Given the description of an element on the screen output the (x, y) to click on. 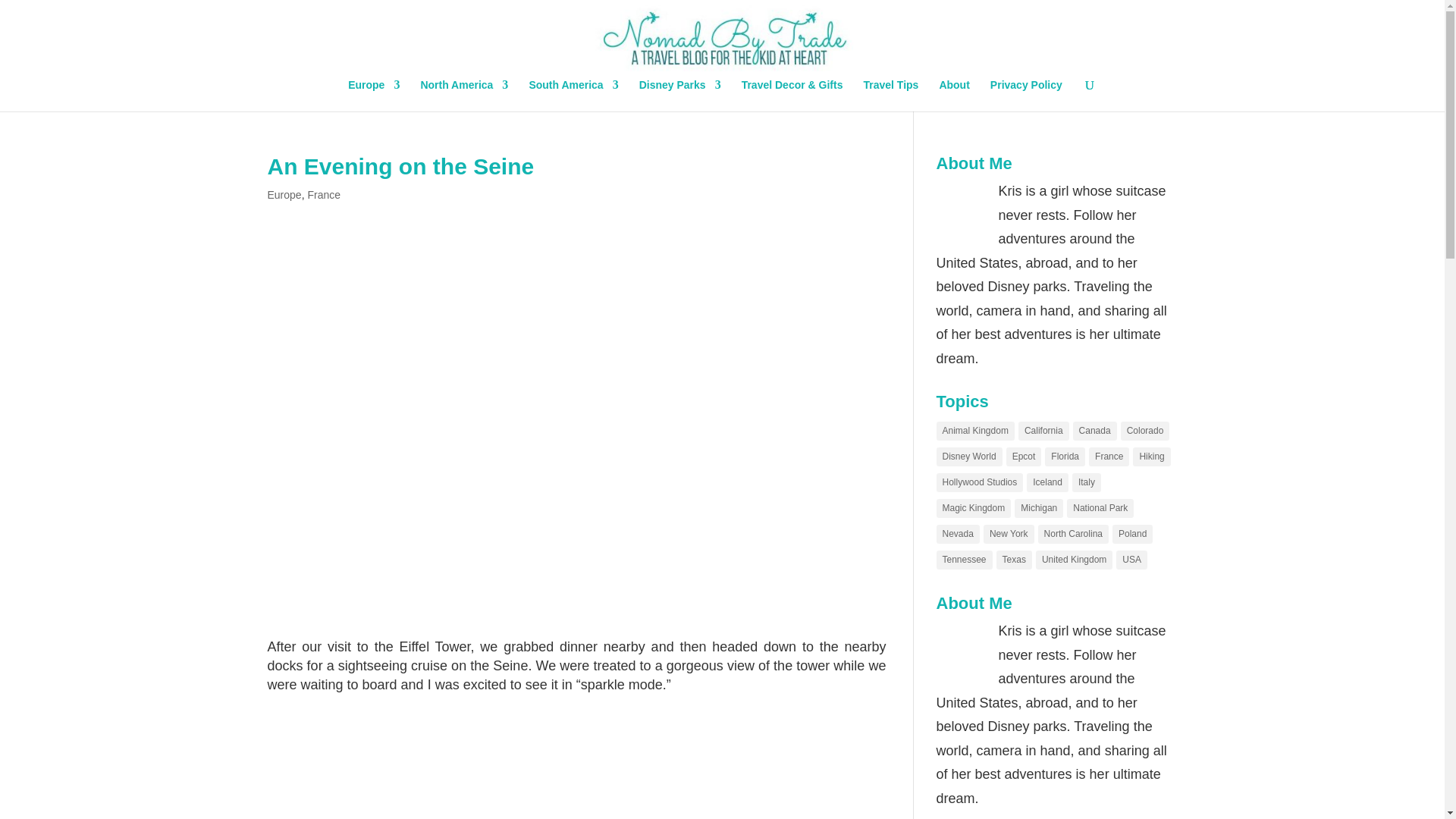
Europe (372, 95)
Privacy Policy (1026, 95)
Europe (283, 194)
South America (572, 95)
Travel Tips (890, 95)
Disney Parks (679, 95)
North America (464, 95)
France (323, 194)
About (954, 95)
The Eiffel Tower at night in Paris, France (576, 760)
